Given the description of an element on the screen output the (x, y) to click on. 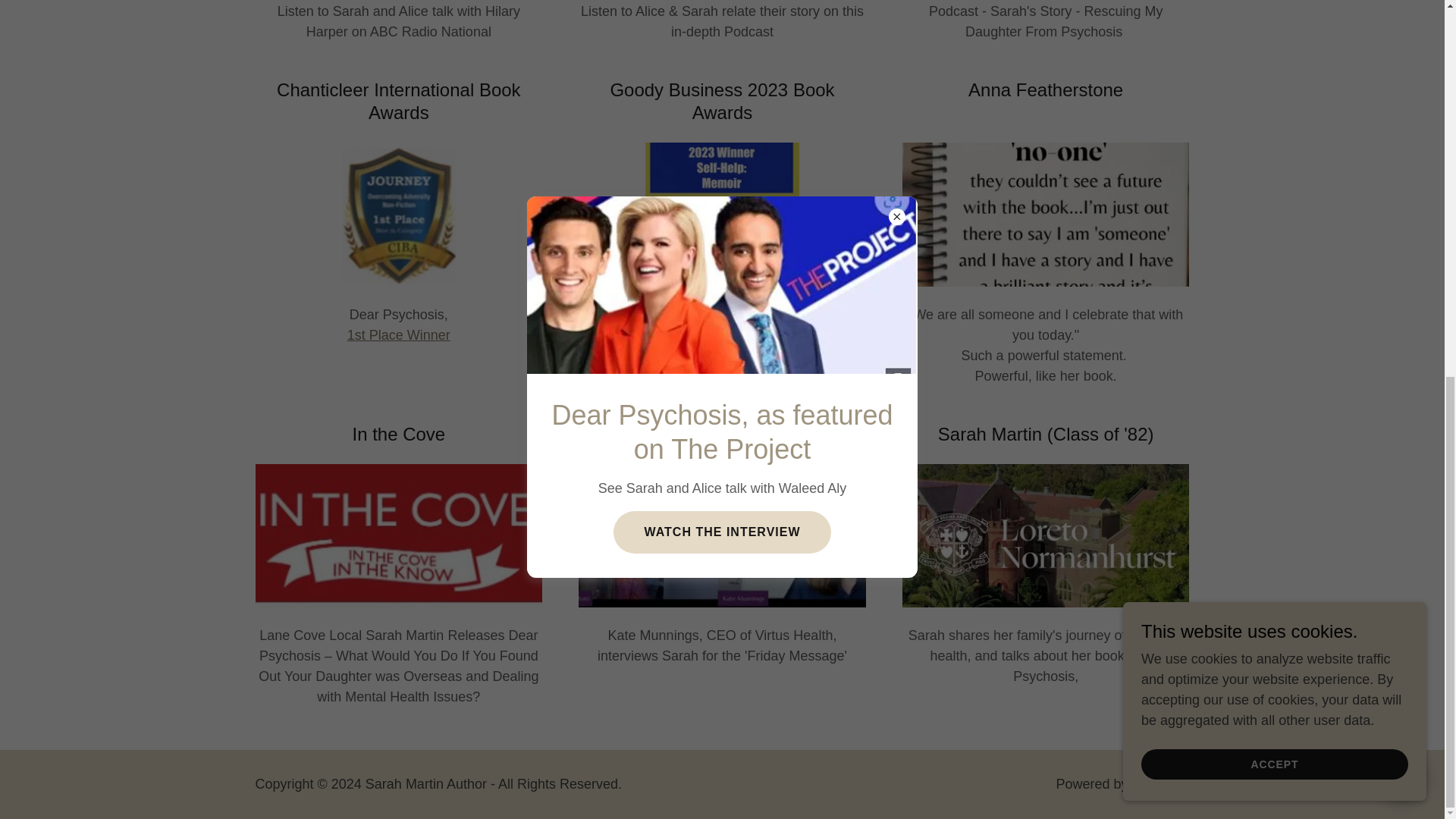
1st Place Winner (398, 335)
